Given the description of an element on the screen output the (x, y) to click on. 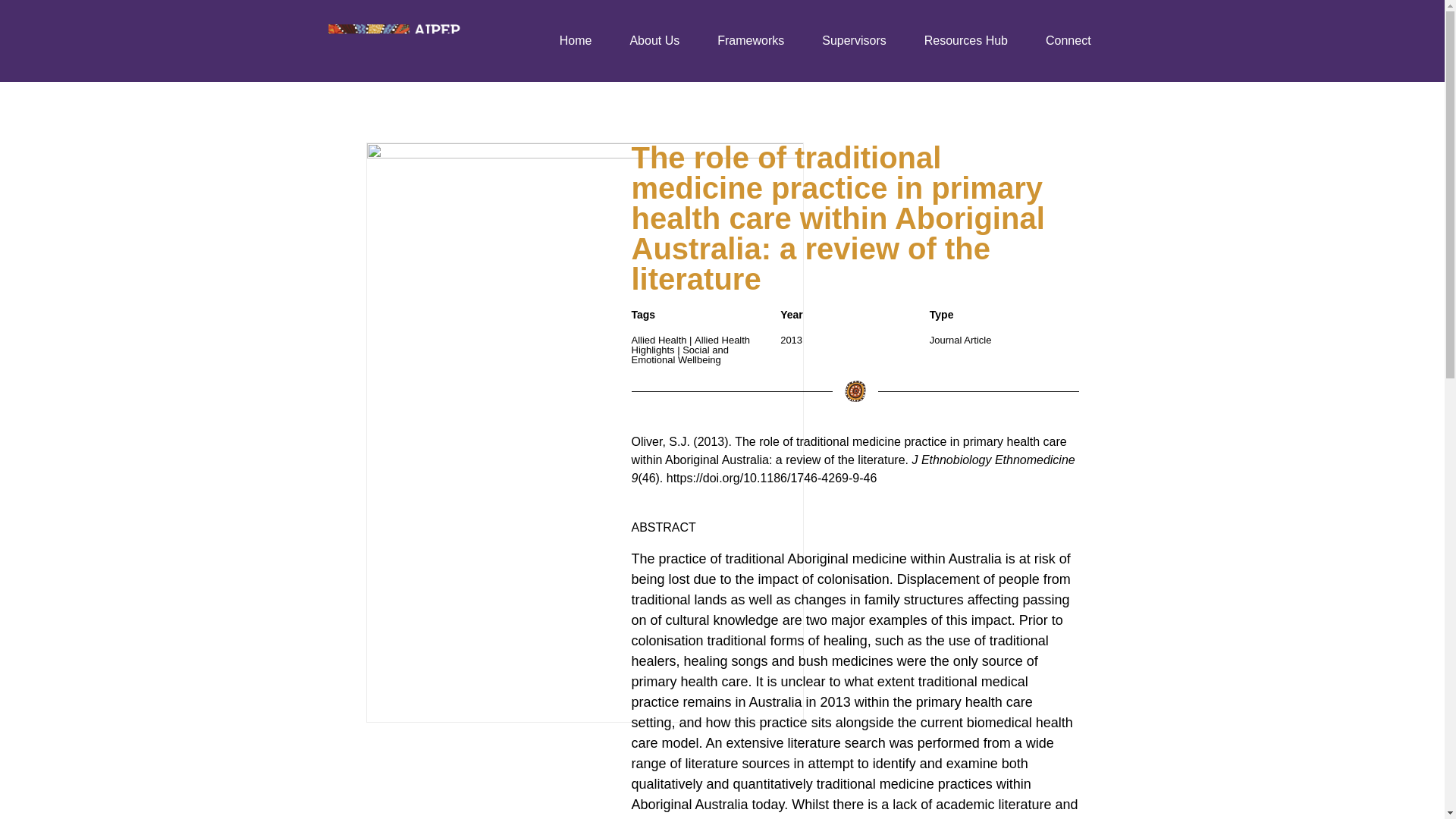
Resources Hub (965, 40)
Connect (1067, 40)
Frameworks (750, 40)
Supervisors (853, 40)
Home (575, 40)
About Us (653, 40)
